Given the description of an element on the screen output the (x, y) to click on. 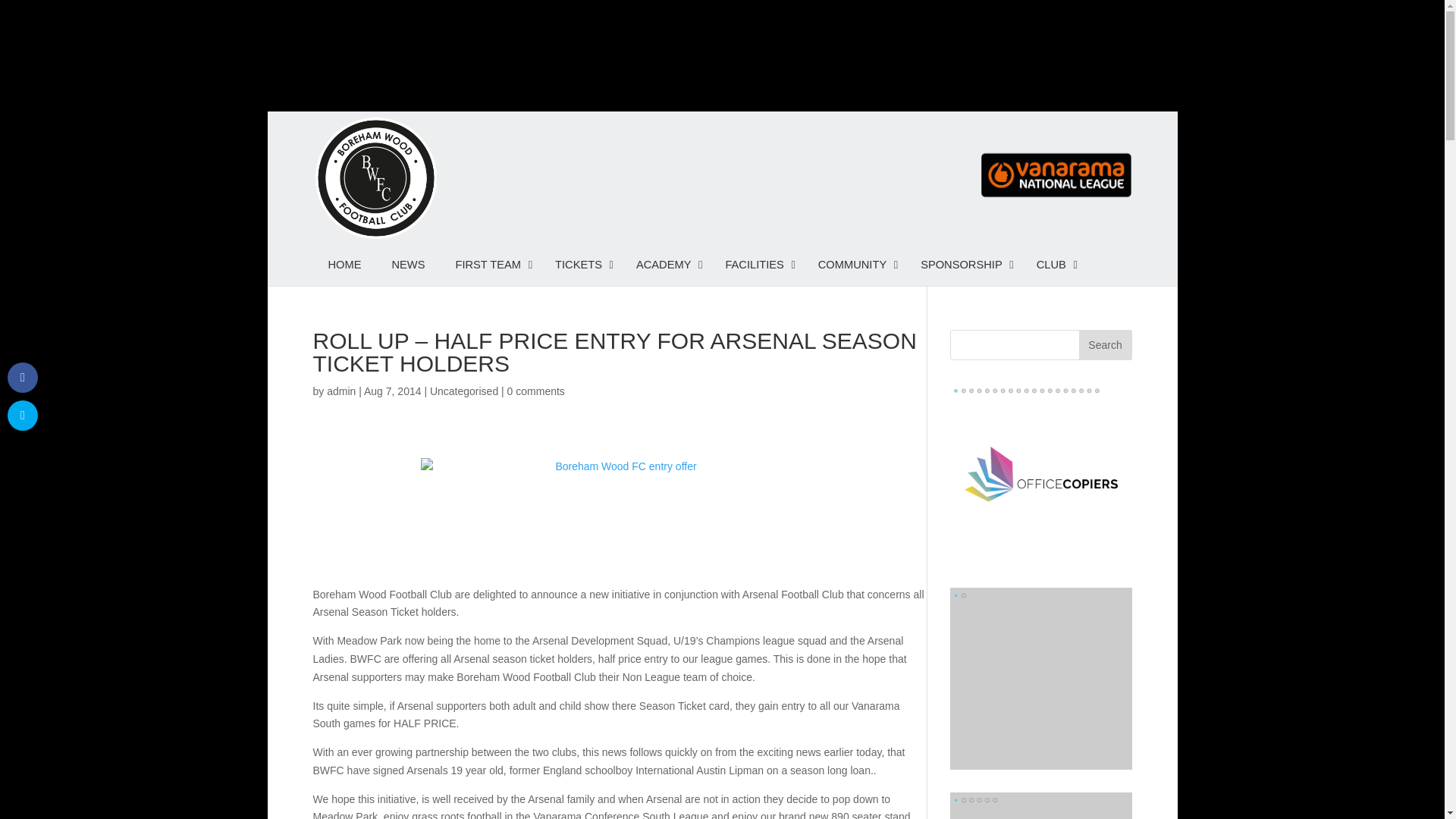
ACADEMY (665, 264)
FIRST TEAM (489, 264)
0 comments (535, 390)
SPONSORSHIP (963, 264)
admin (340, 390)
Posts by admin (340, 390)
HOME (344, 264)
FACILITIES (756, 264)
NEWS (407, 264)
